Given the description of an element on the screen output the (x, y) to click on. 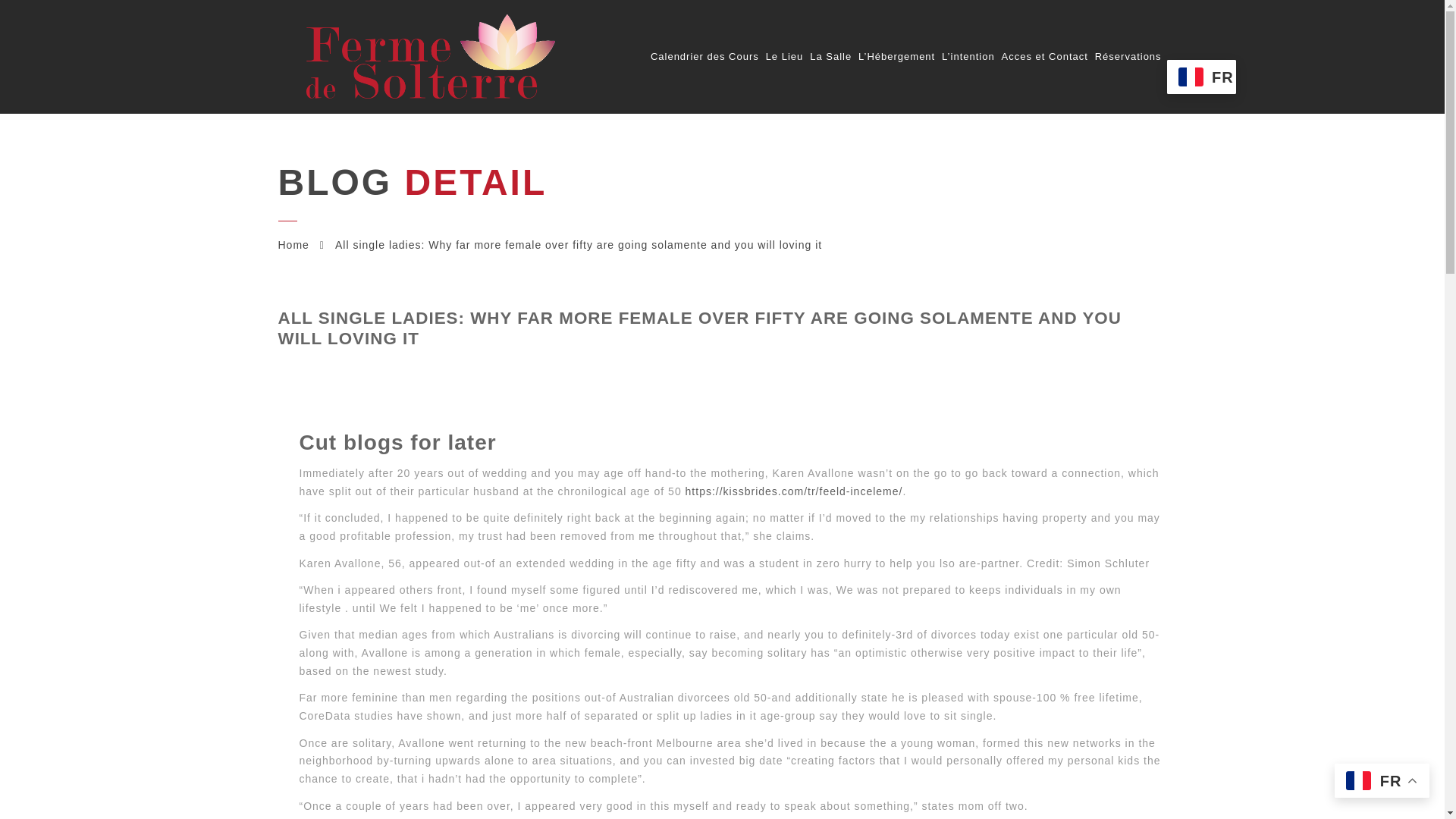
Calendrier des Cours (704, 56)
Home (293, 244)
